Given the description of an element on the screen output the (x, y) to click on. 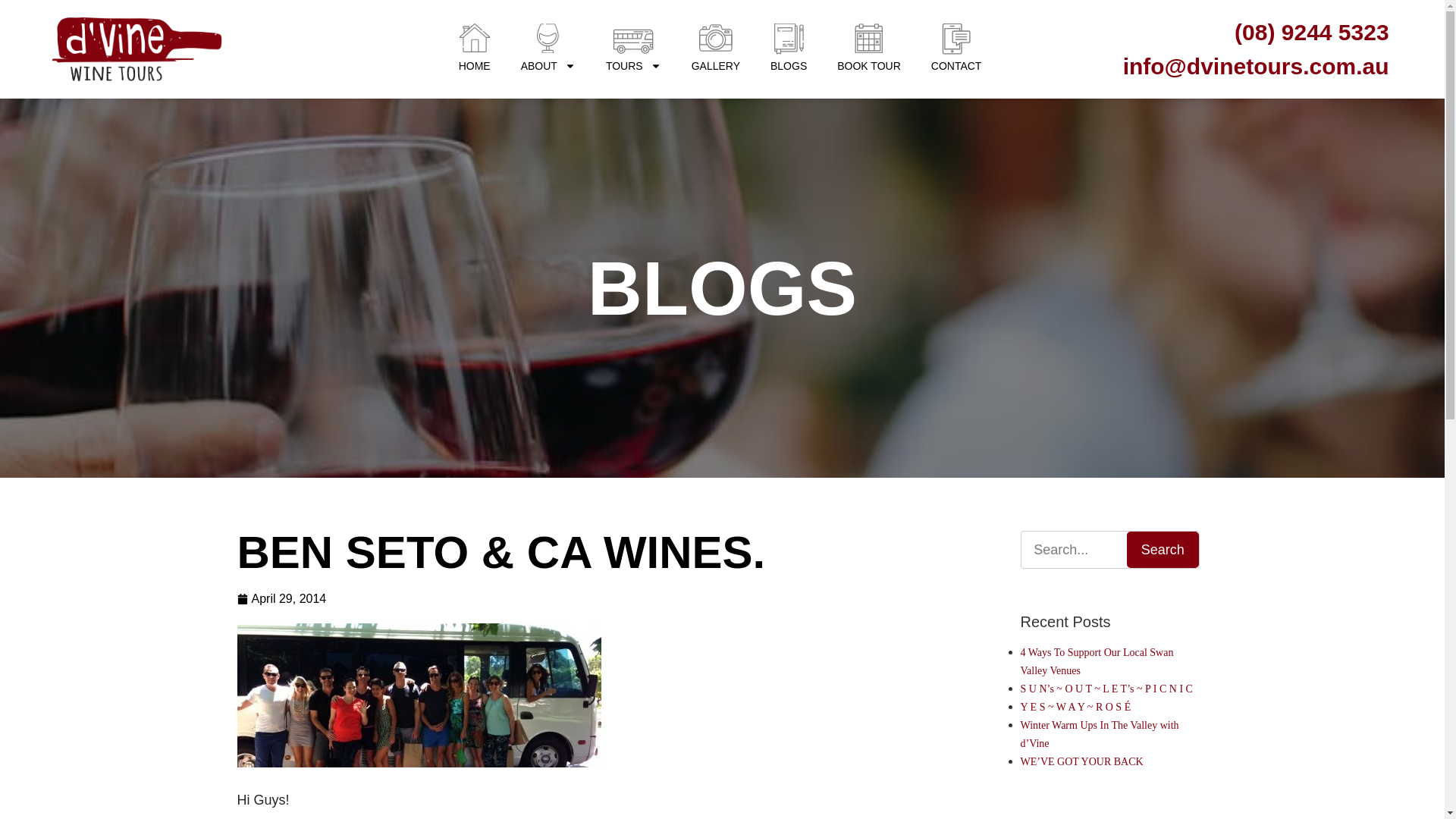
TOURS (634, 65)
BOOK TOUR (868, 65)
CONTACT (956, 65)
GALLERY (716, 65)
ABOUT (548, 65)
BLOGS (788, 65)
HOME (474, 65)
